Given the description of an element on the screen output the (x, y) to click on. 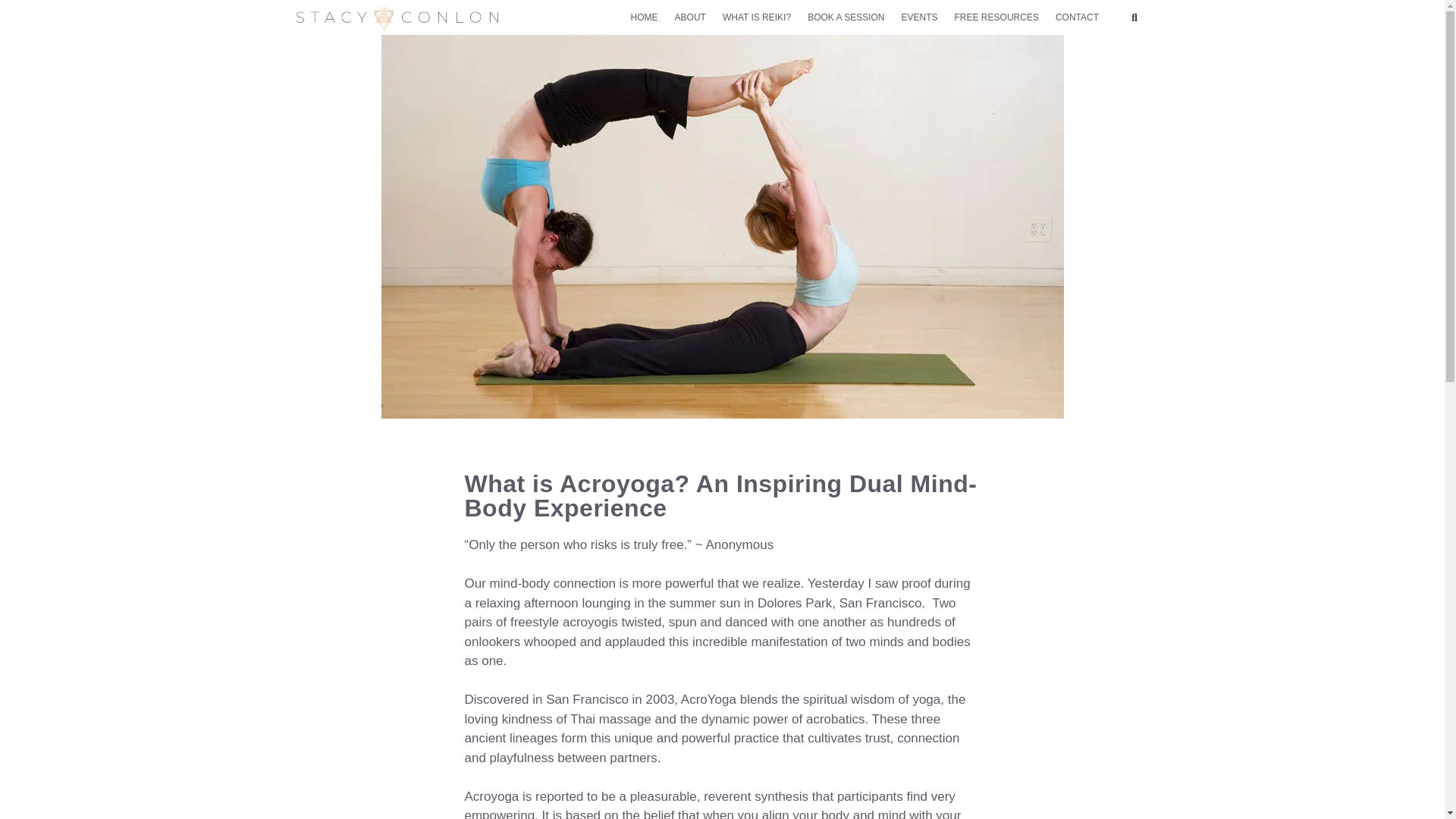
FREE RESOURCES (997, 17)
ABOUT (690, 17)
CONTACT (1077, 17)
WHAT IS REIKI? (756, 17)
EVENTS (919, 17)
BOOK A SESSION (845, 17)
